Given the description of an element on the screen output the (x, y) to click on. 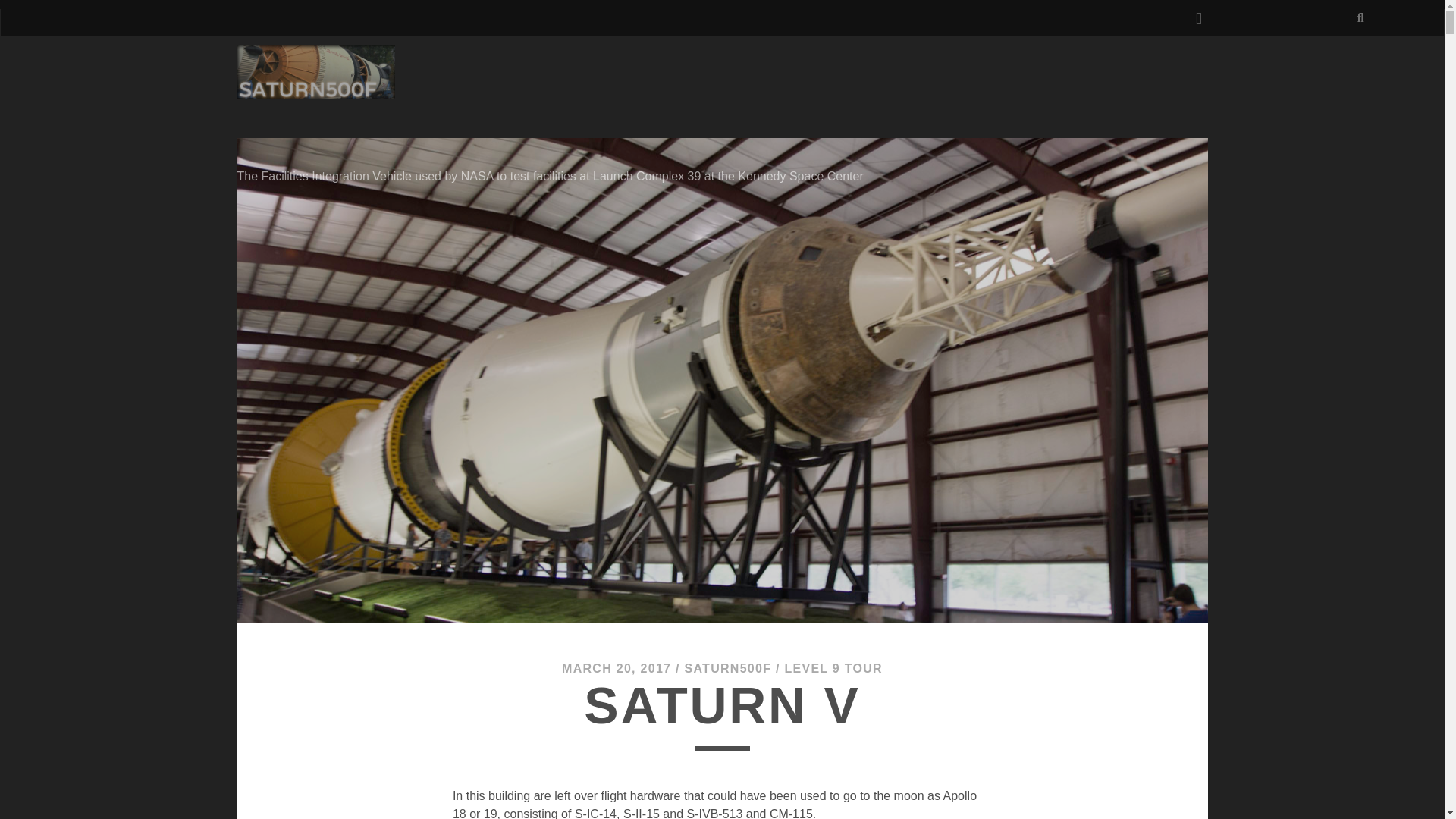
Posts by saturn500f (727, 667)
SATURN500F (727, 667)
LEVEL 9 TOUR (833, 667)
